Given the description of an element on the screen output the (x, y) to click on. 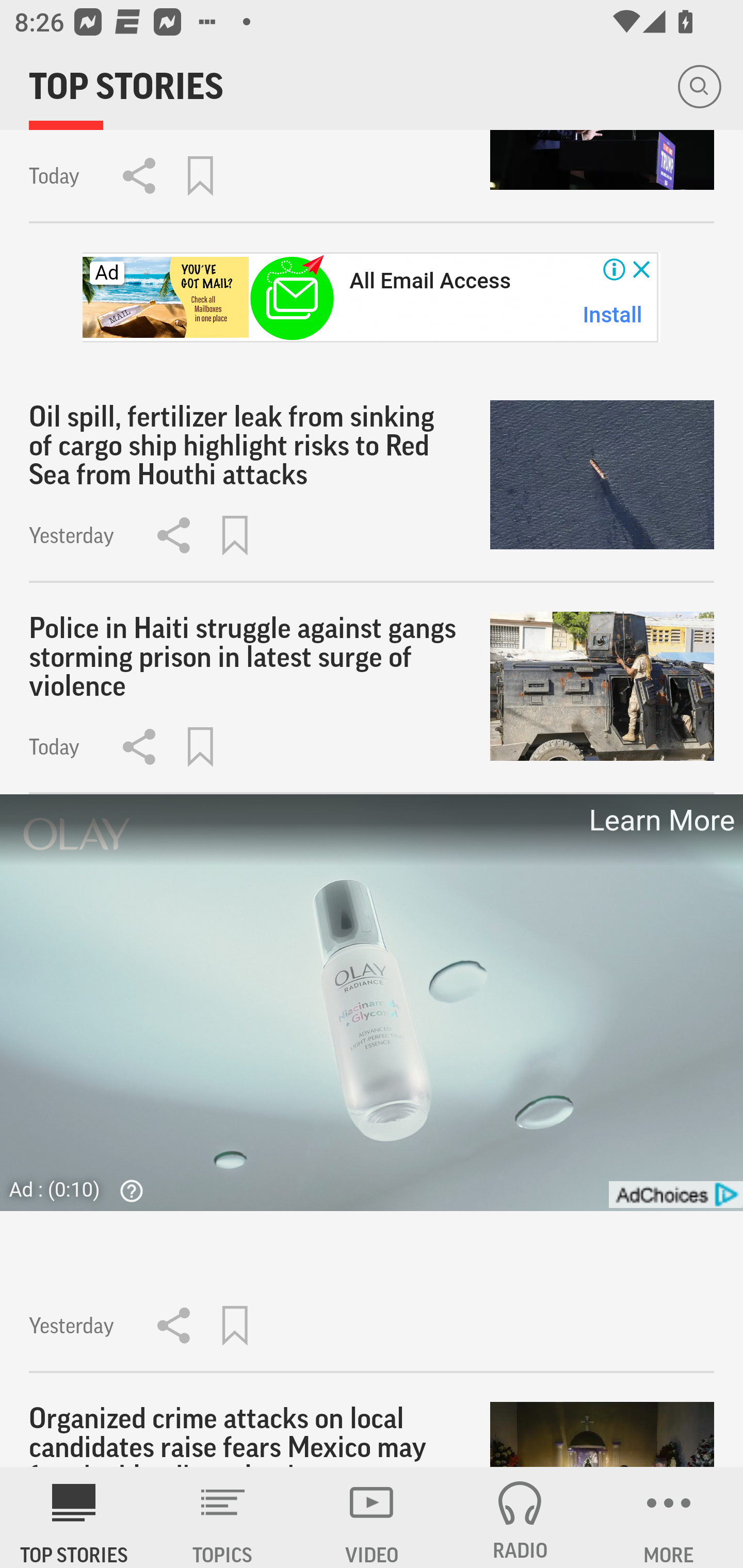
All Email Access (429, 280)
Install (613, 314)
Learn More (660, 820)
Ad : (0:10) Why This Ad? (82, 1189)
Why This Ad? (126, 1190)
get?name=admarker-full-tl (675, 1194)
AP News TOP STORIES (74, 1517)
TOPICS (222, 1517)
VIDEO (371, 1517)
RADIO (519, 1517)
MORE (668, 1517)
